Given the description of an element on the screen output the (x, y) to click on. 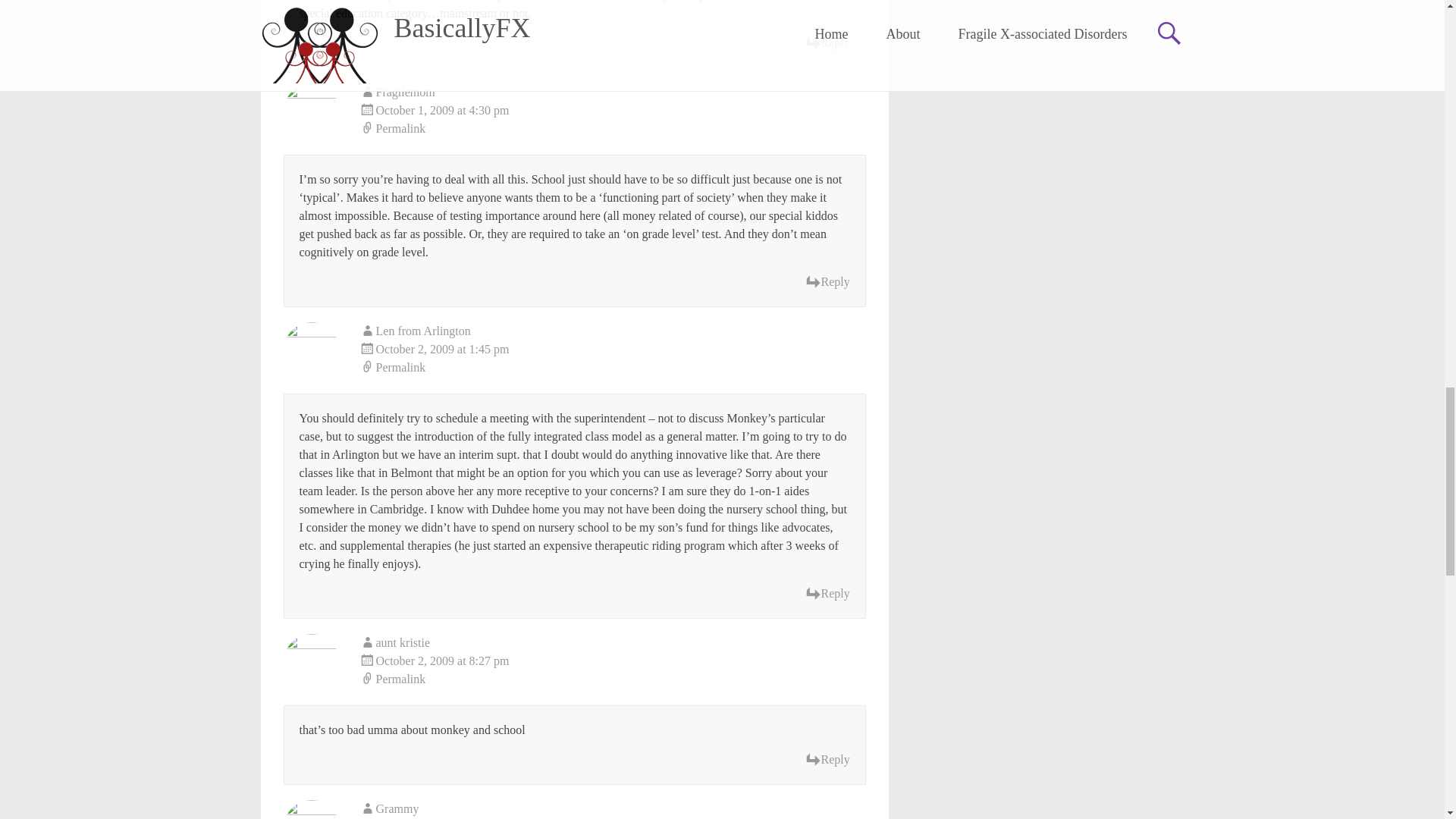
Reply (827, 43)
Permalink (612, 128)
Reply (827, 281)
Reply (827, 593)
Permalink (612, 679)
Reply (827, 760)
Permalink (612, 367)
aunt kristie (402, 642)
